Given the description of an element on the screen output the (x, y) to click on. 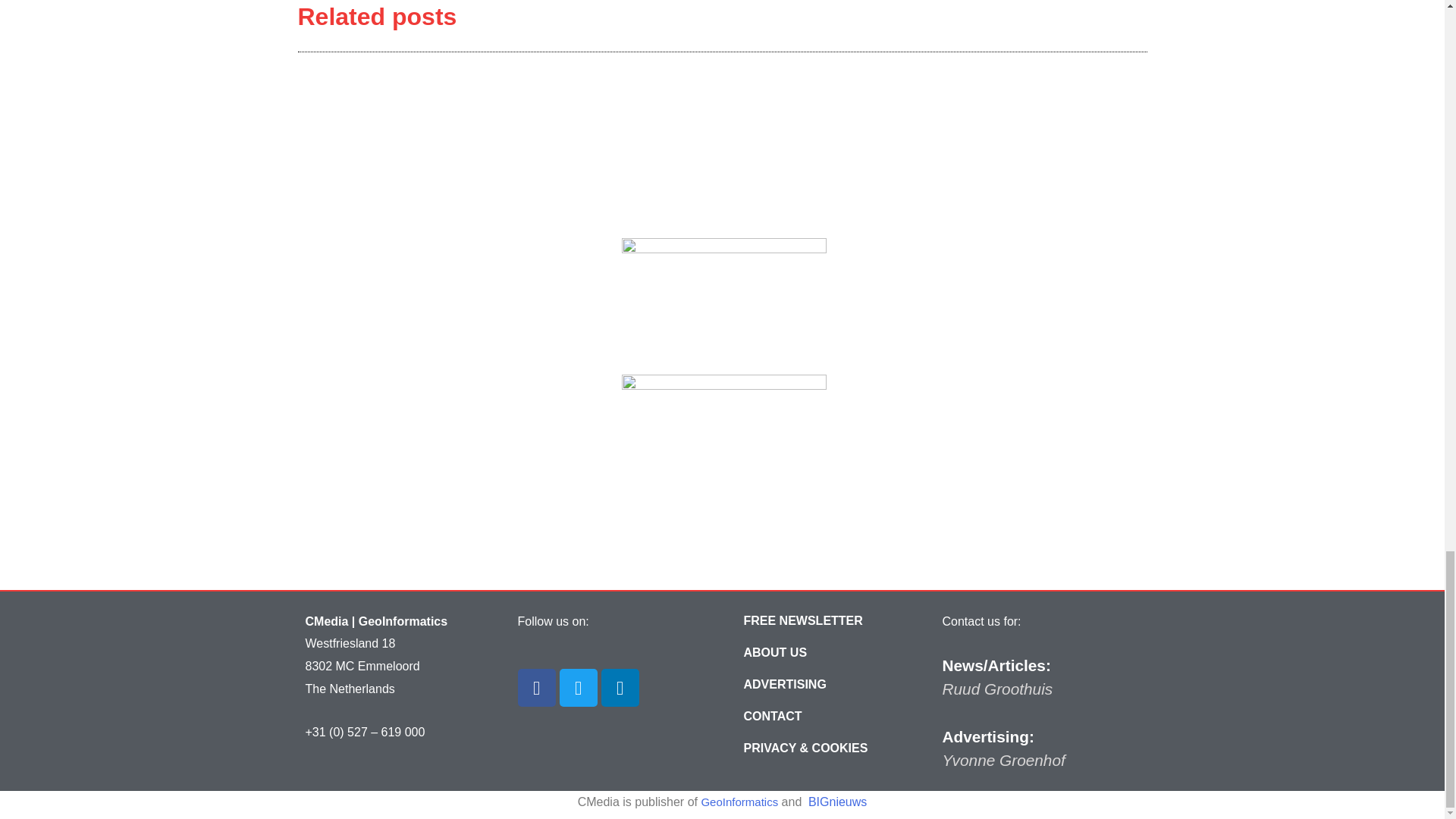
About GeoInformatics (774, 653)
FREE NEWSLETTER (802, 621)
ADVERTISING (784, 685)
FREE eNewsletter (802, 621)
CONTACT (772, 716)
Contact (772, 716)
ABOUT US (774, 653)
Advertising? (784, 685)
